Given the description of an element on the screen output the (x, y) to click on. 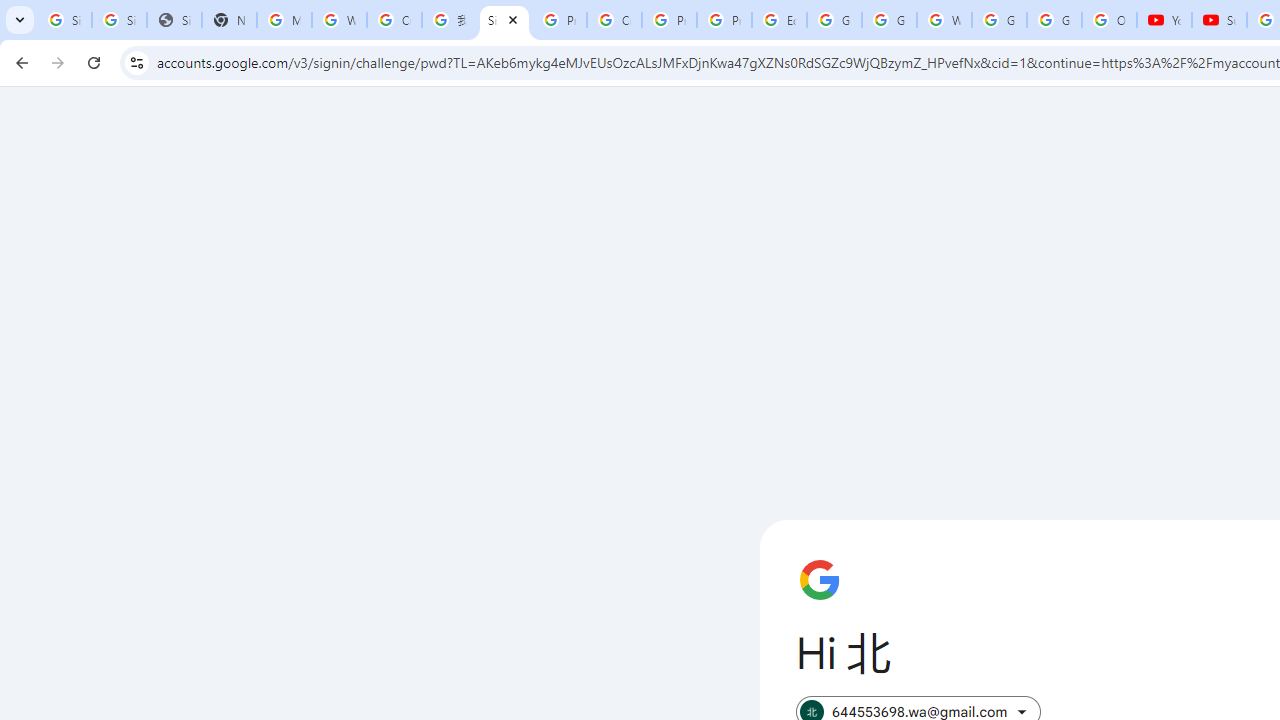
New Tab (229, 20)
YouTube (1163, 20)
Who is my administrator? - Google Account Help (339, 20)
Create your Google Account (394, 20)
Edit and view right-to-left text - Google Docs Editors Help (779, 20)
Welcome to My Activity (943, 20)
